Given the description of an element on the screen output the (x, y) to click on. 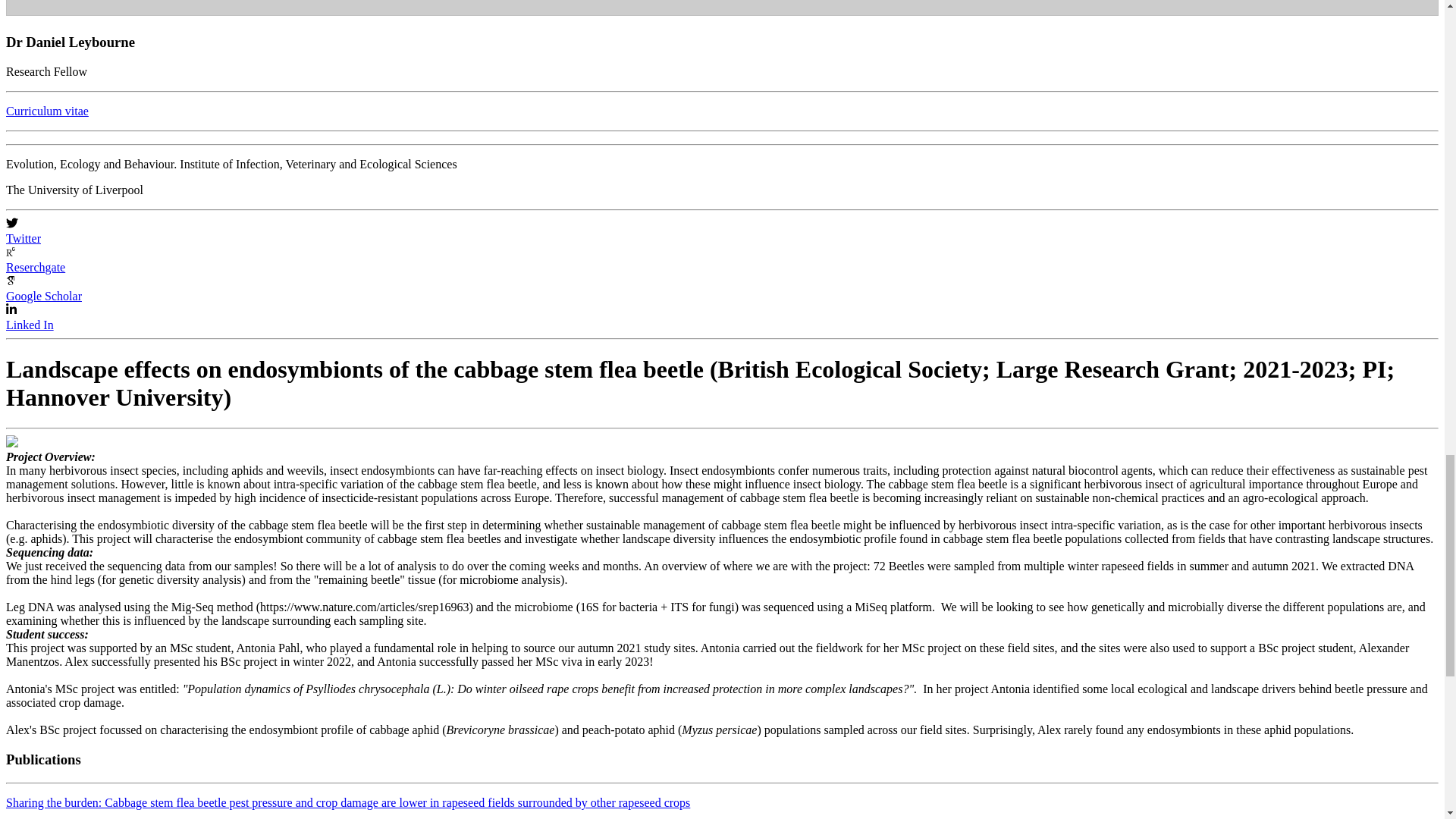
Twitter (22, 237)
Reserchgate (35, 267)
Curriculum vitae (46, 110)
Linked In (29, 324)
Google Scholar (43, 295)
